Given the description of an element on the screen output the (x, y) to click on. 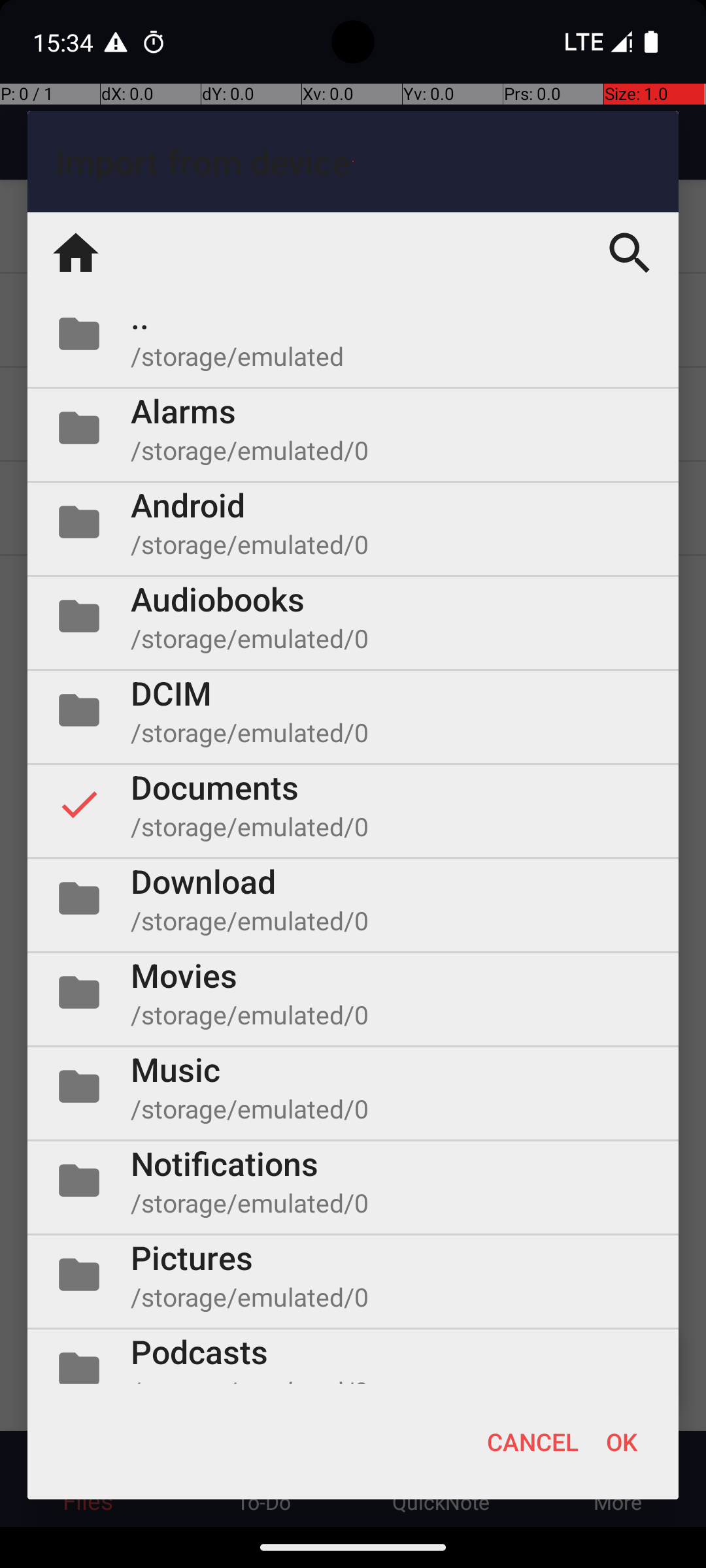
Import from device Element type: android.widget.TextView (352, 161)
Folder Alarms  Element type: android.widget.LinearLayout (352, 427)
Folder Android  Element type: android.widget.LinearLayout (352, 521)
Folder Audiobooks  Element type: android.widget.LinearLayout (352, 615)
Folder DCIM  Element type: android.widget.LinearLayout (352, 709)
Selected Documents  Element type: android.widget.LinearLayout (352, 804)
Folder Download  Element type: android.widget.LinearLayout (352, 898)
Folder Movies  Element type: android.widget.LinearLayout (352, 992)
Folder Music  Element type: android.widget.LinearLayout (352, 1086)
Folder Notifications  Element type: android.widget.LinearLayout (352, 1180)
Folder Pictures  Element type: android.widget.LinearLayout (352, 1274)
Folder Podcasts  Element type: android.widget.LinearLayout (352, 1356)
